Given the description of an element on the screen output the (x, y) to click on. 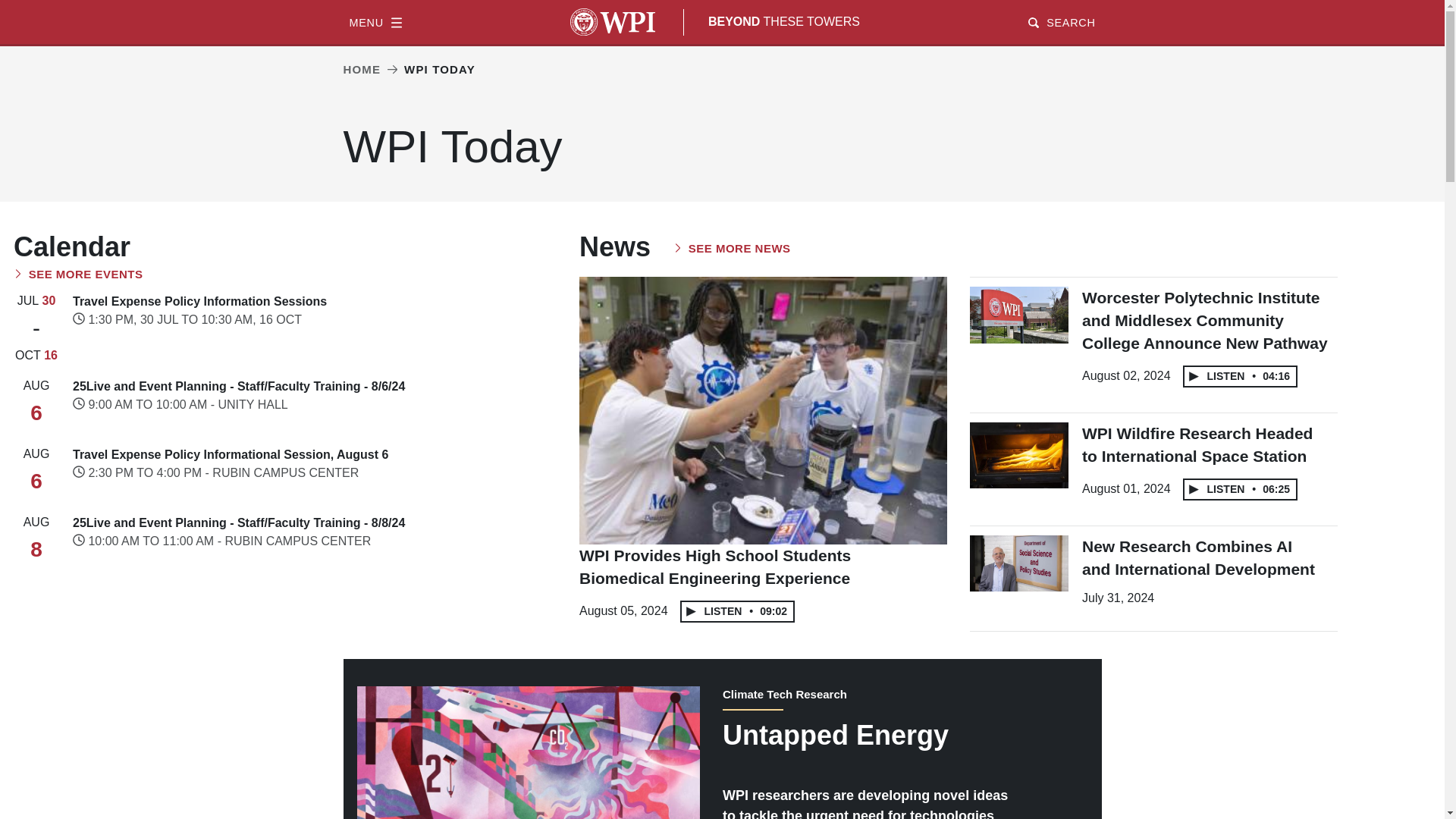
Skip to main content (721, 1)
WPI Home (612, 22)
SEARCH (1061, 21)
BEYOND THESE TOWERS (783, 21)
MENU (374, 21)
